Given the description of an element on the screen output the (x, y) to click on. 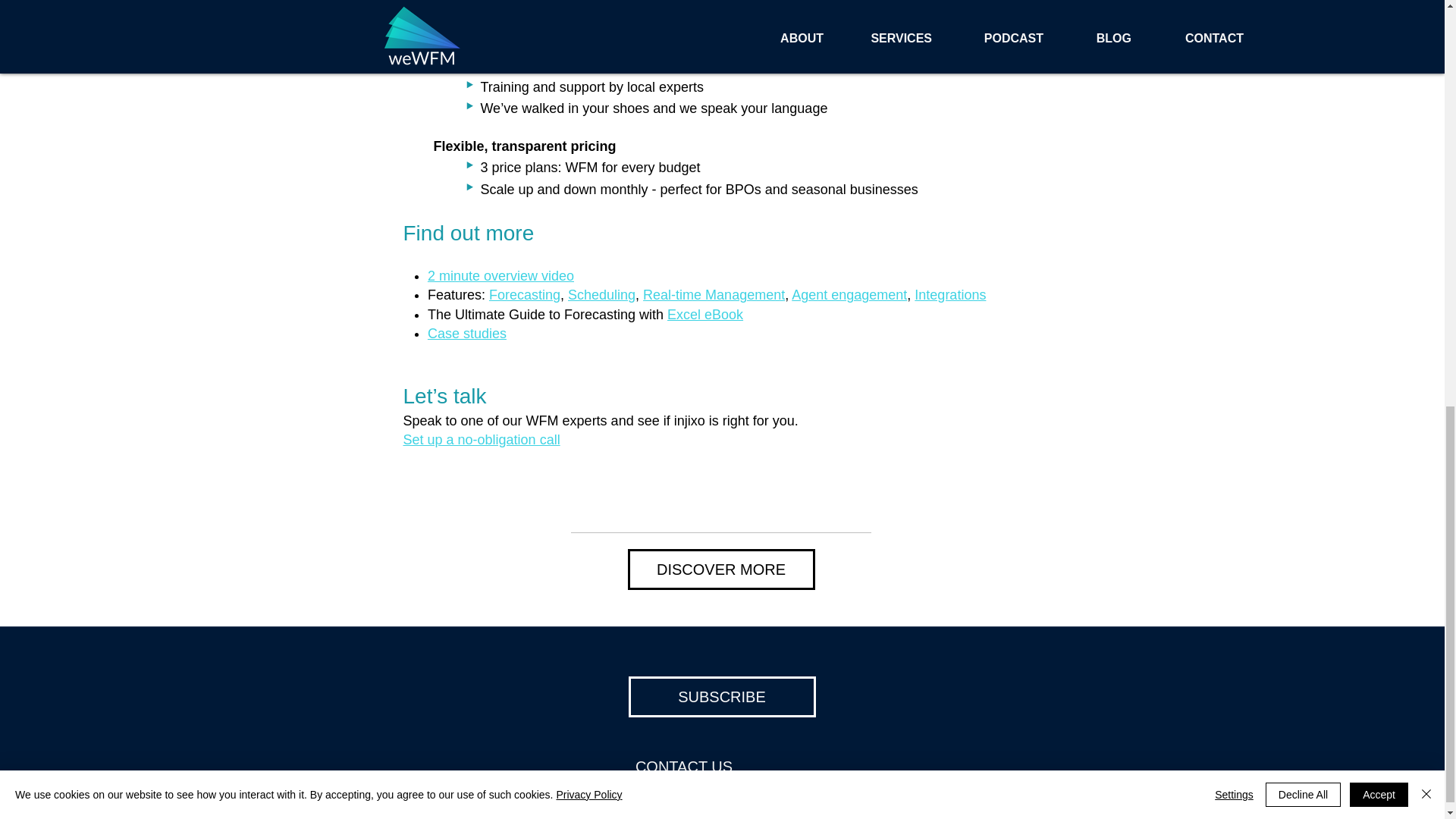
SUBSCRIBE (721, 696)
Excel eBook (704, 314)
CONTACT US (683, 766)
DISCOVER MORE (721, 568)
2 minute overview video (500, 275)
Real-time Management (713, 294)
Case studies (467, 333)
Integrations (949, 294)
Agent engagement (849, 294)
Scheduling (600, 294)
Privacy Policy. (834, 796)
Forecasting (524, 294)
Set up a no-obligation call (481, 439)
